Given the description of an element on the screen output the (x, y) to click on. 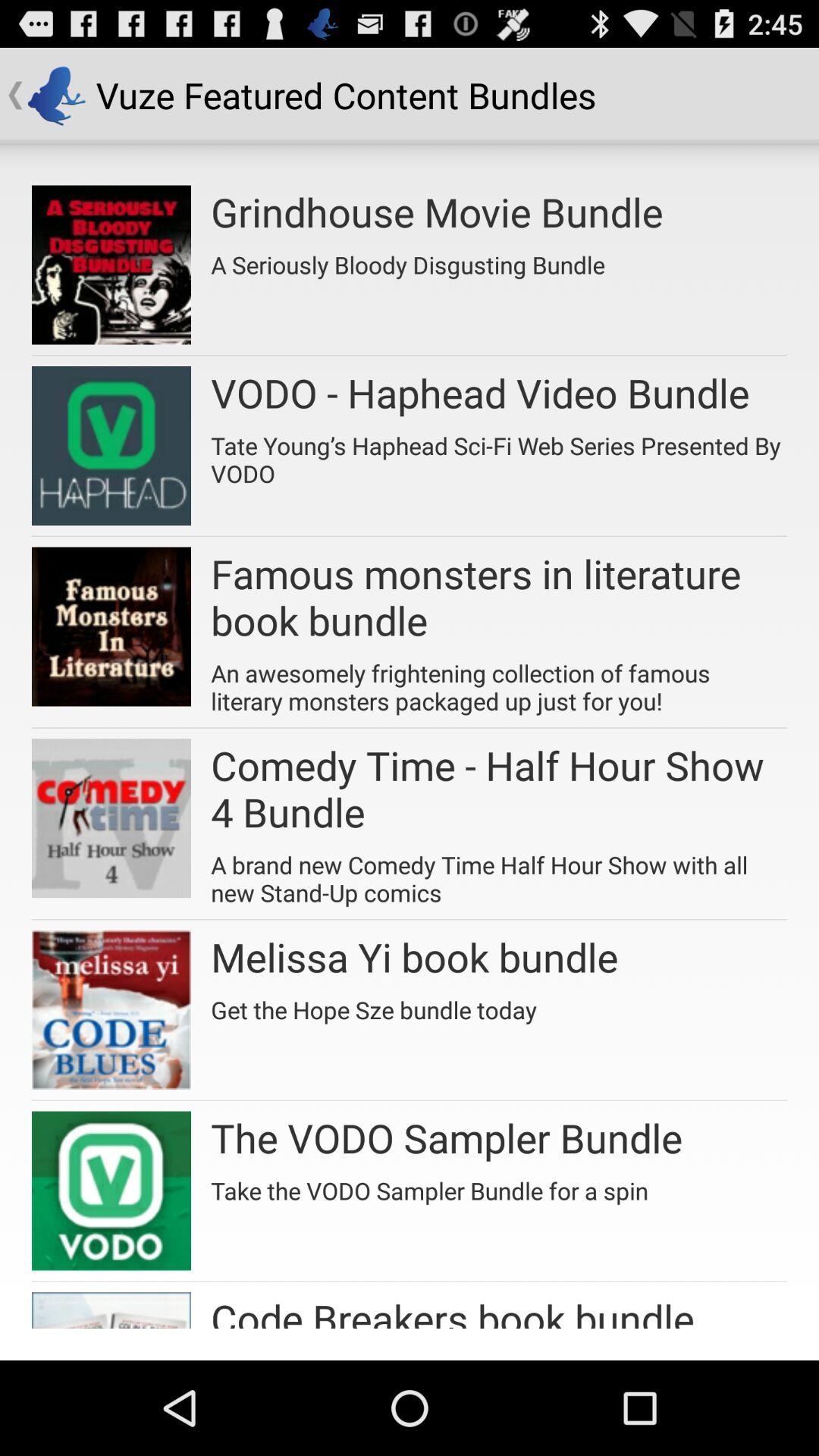
click the a brand new app (499, 873)
